Given the description of an element on the screen output the (x, y) to click on. 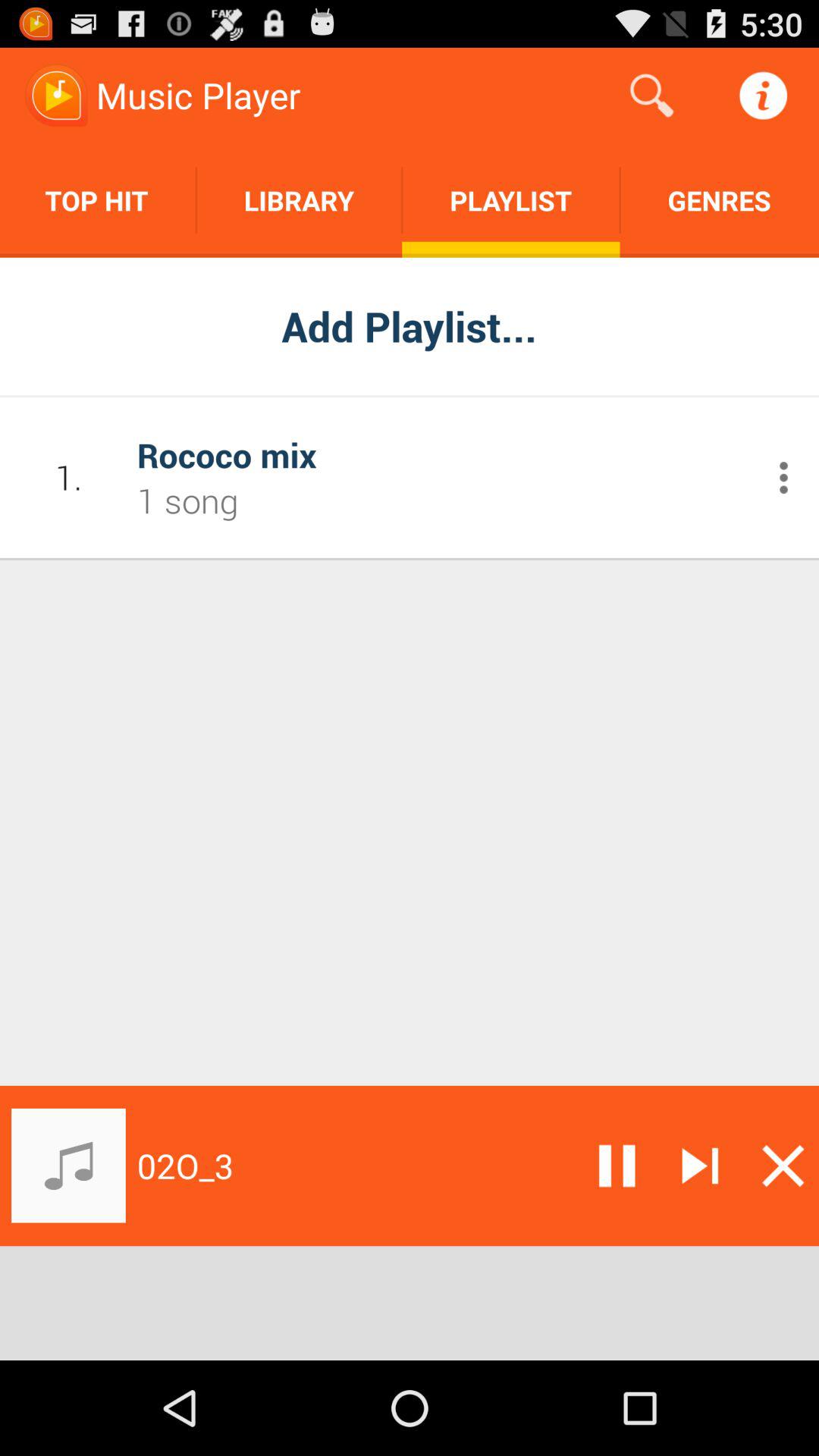
pause the playing of music (616, 1165)
